Given the description of an element on the screen output the (x, y) to click on. 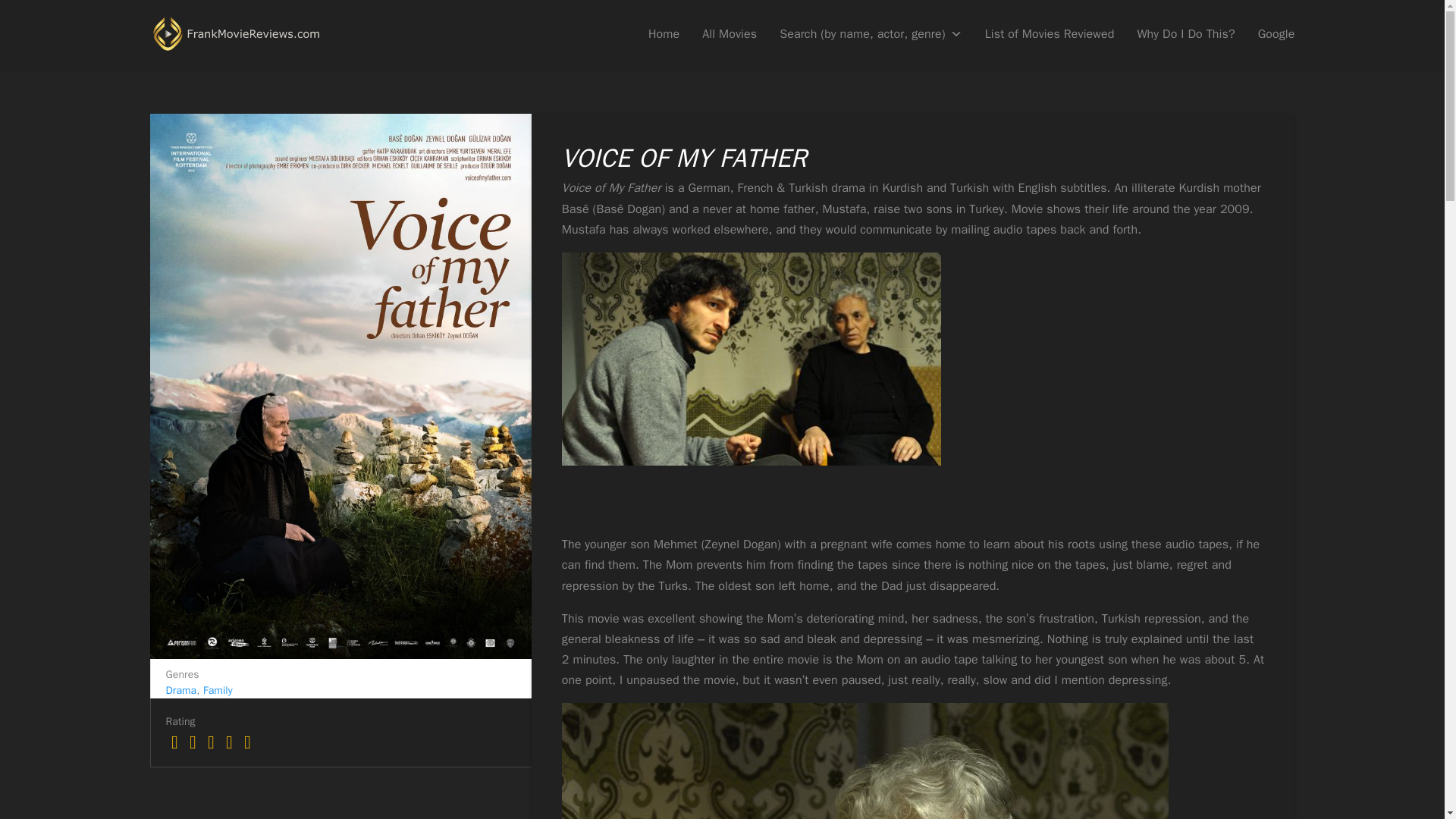
Home (663, 33)
More movies from Drama (180, 690)
Family (217, 690)
Why Do I Do This? (1185, 33)
Drama (180, 690)
Google (1276, 33)
More movies from Family (217, 690)
List of Movies Reviewed (1049, 33)
All Movies (729, 33)
